Given the description of an element on the screen output the (x, y) to click on. 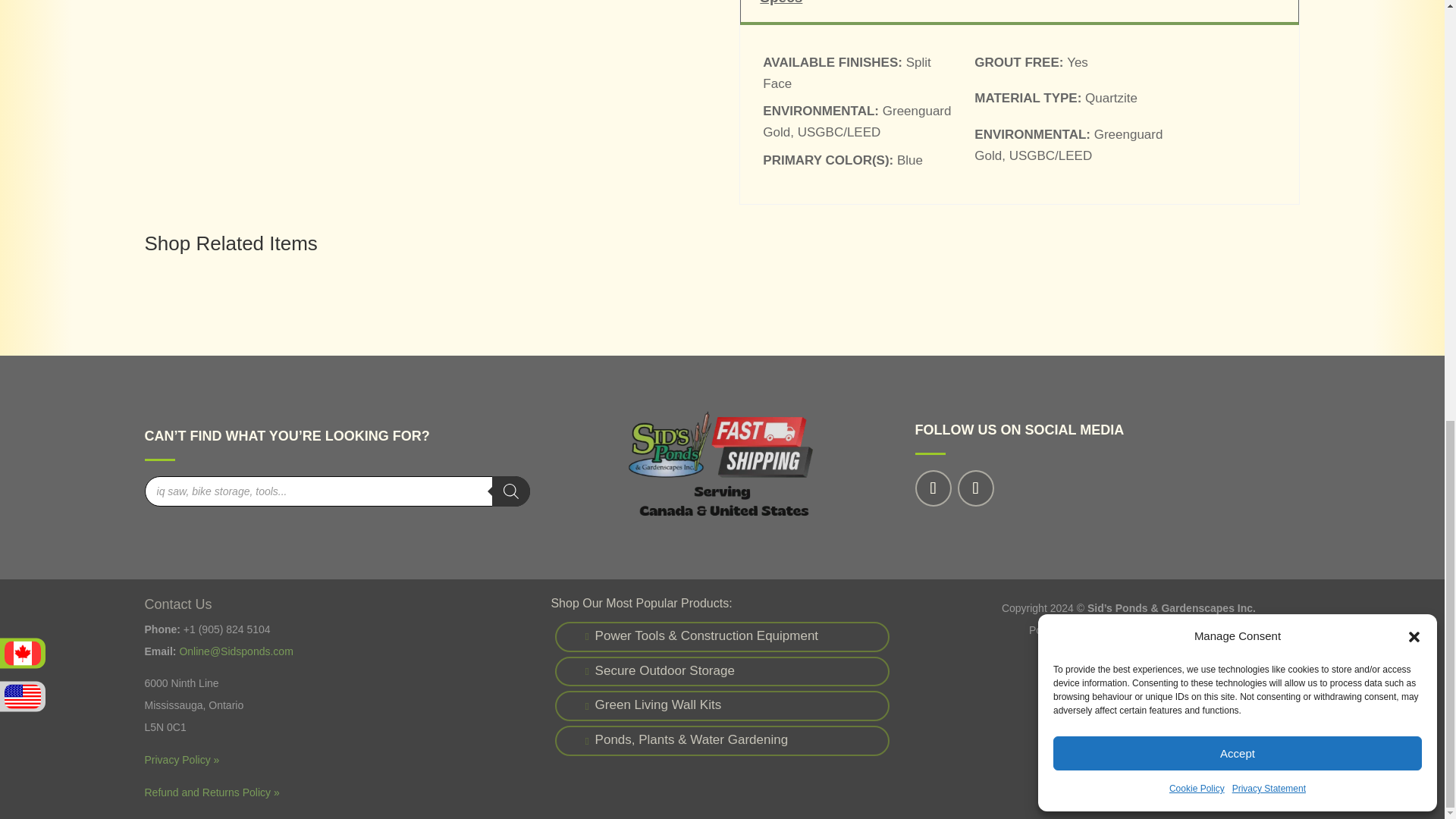
Follow on Instagram (974, 488)
Sids-Ponds---Transparent-Fast-shipping-min (721, 465)
Follow on Facebook (932, 488)
